Given the description of an element on the screen output the (x, y) to click on. 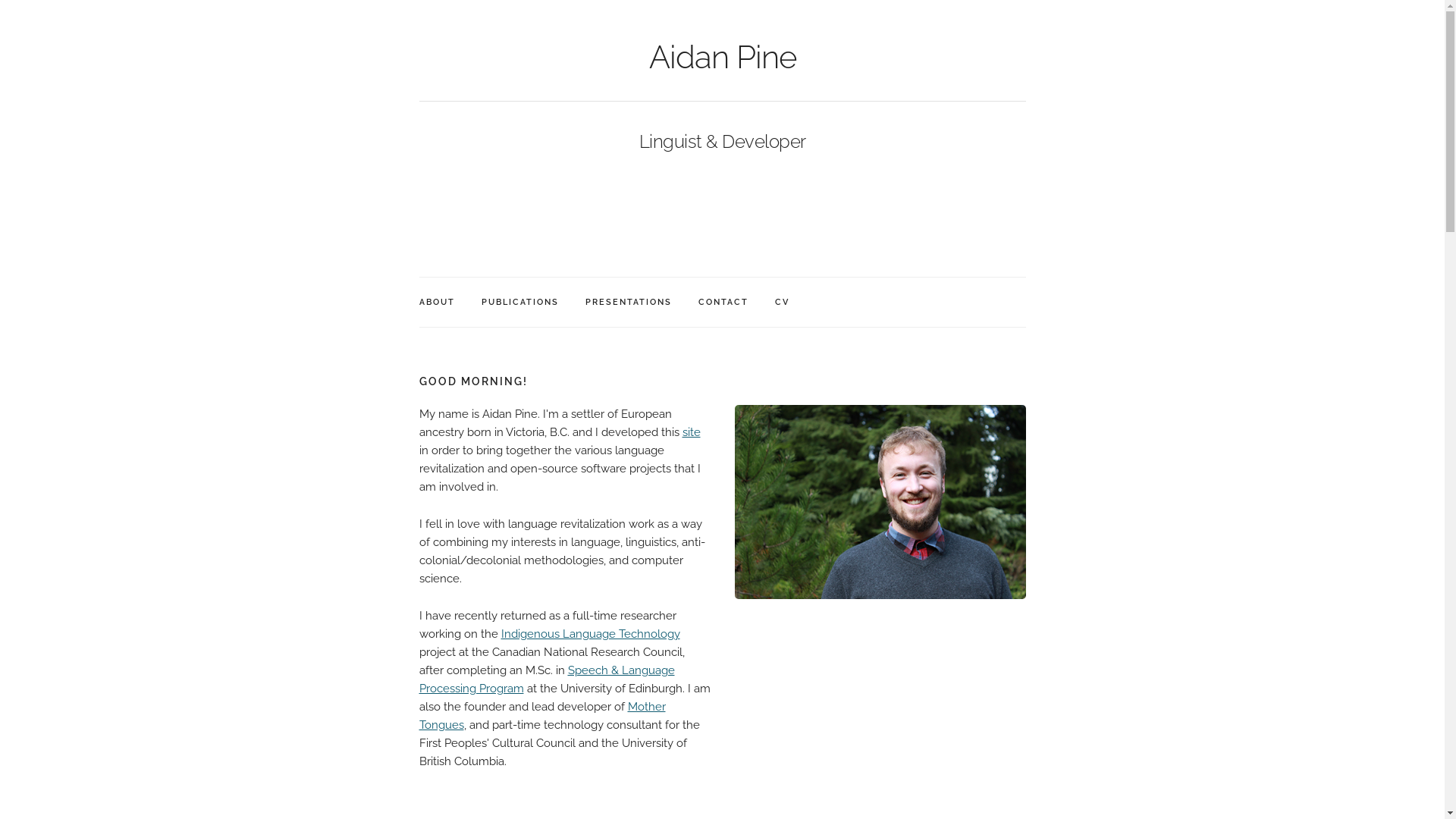
ABOUT Element type: text (436, 302)
CV Element type: text (782, 302)
site Element type: text (691, 432)
Indigenous Language Technology Element type: text (589, 633)
CONTACT Element type: text (722, 302)
Speech & Language Processing Program Element type: text (546, 679)
PUBLICATIONS Element type: text (519, 302)
Mother Tongues Element type: text (541, 715)
PRESENTATIONS Element type: text (628, 302)
